Given the description of an element on the screen output the (x, y) to click on. 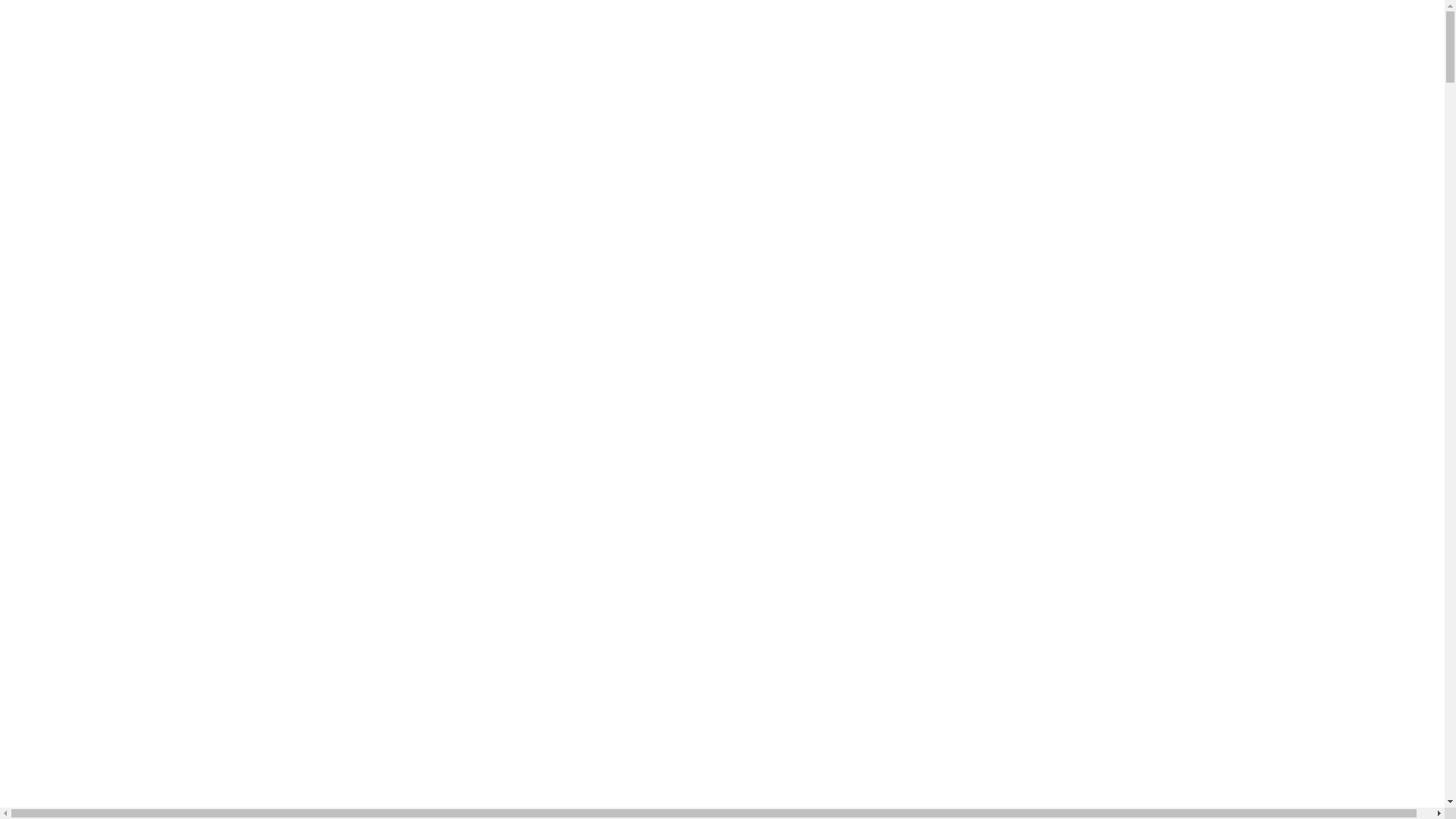
Skip to main content Element type: text (5, 5)
